Given the description of an element on the screen output the (x, y) to click on. 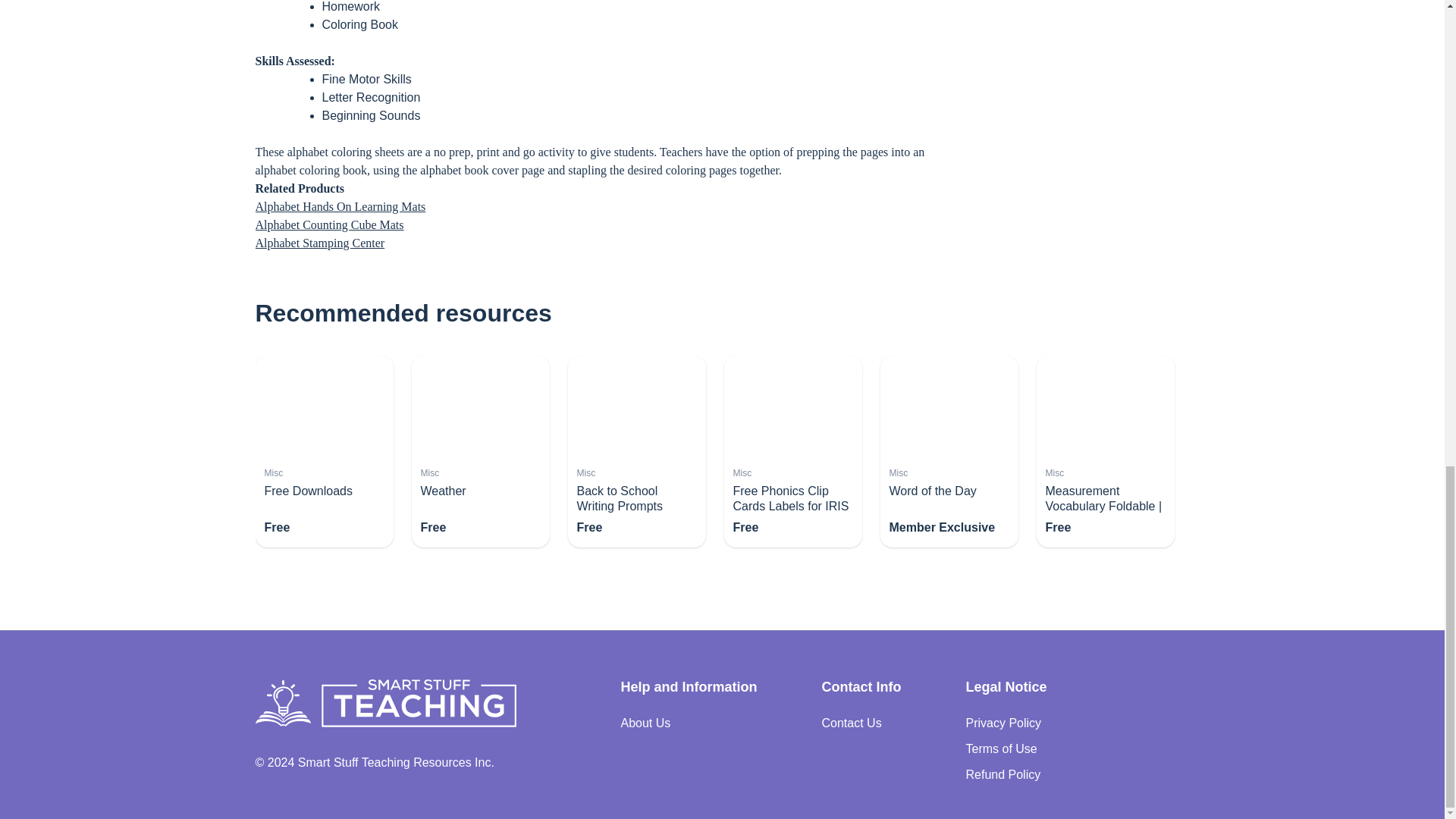
Weather (442, 490)
Misc (272, 472)
Misc (429, 472)
Alphabet Hands On Learning Mats (339, 205)
Free Downloads (307, 490)
Back to School Writing Prompts (619, 498)
Alphabet Counting Cube Mats (328, 224)
Misc (585, 472)
Alphabet Stamping Center (319, 242)
